Given the description of an element on the screen output the (x, y) to click on. 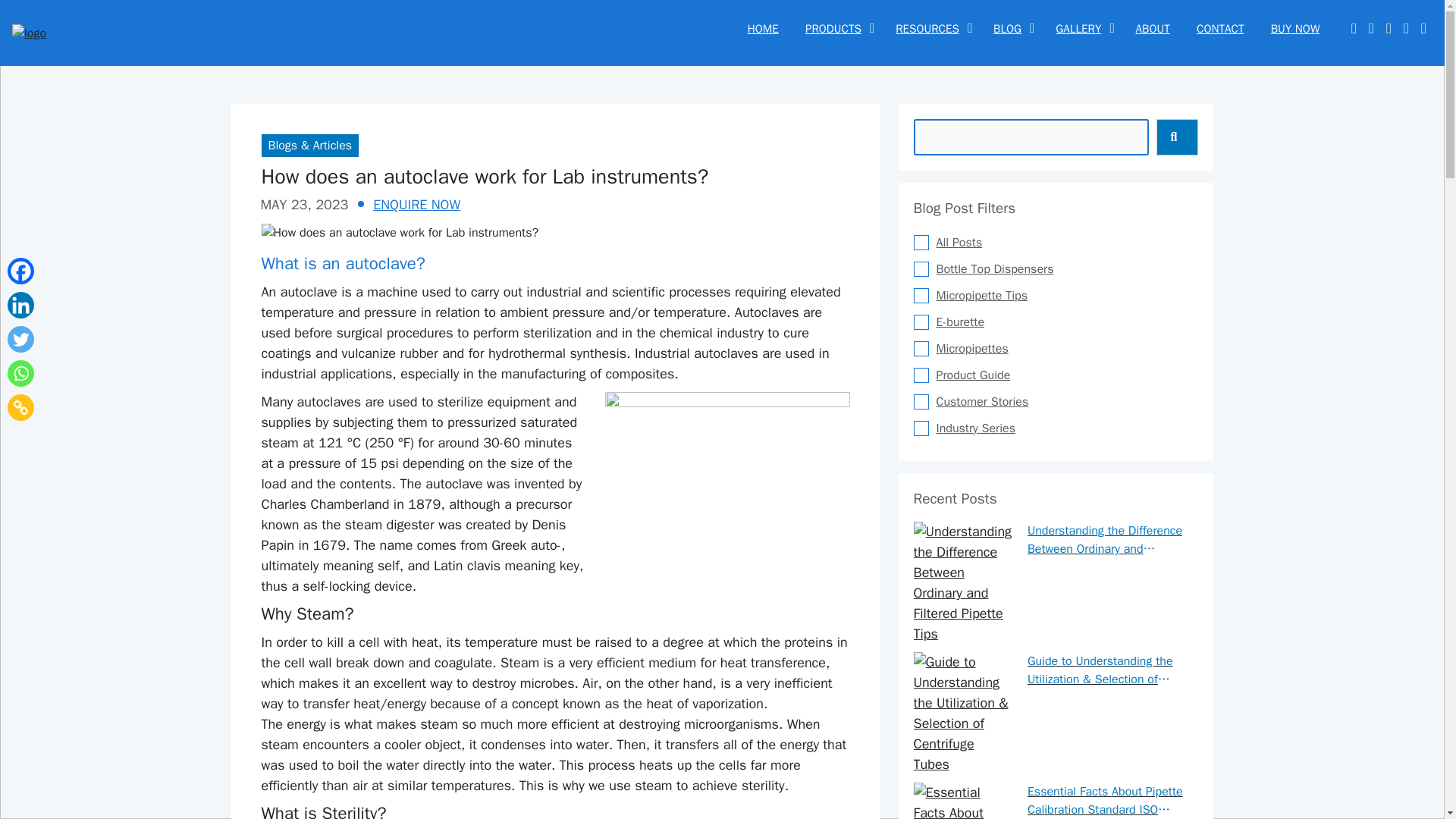
BUY NOW (1295, 28)
CONTACT (1219, 28)
RESOURCES (927, 28)
GALLERY (1078, 28)
Facebook (20, 270)
Whatsapp (20, 373)
Linkedin (20, 304)
HOME (762, 28)
Twitter (20, 338)
BLOG (1006, 28)
ABOUT (1152, 28)
Copy Link (20, 406)
PRODUCTS (833, 28)
